Given the description of an element on the screen output the (x, y) to click on. 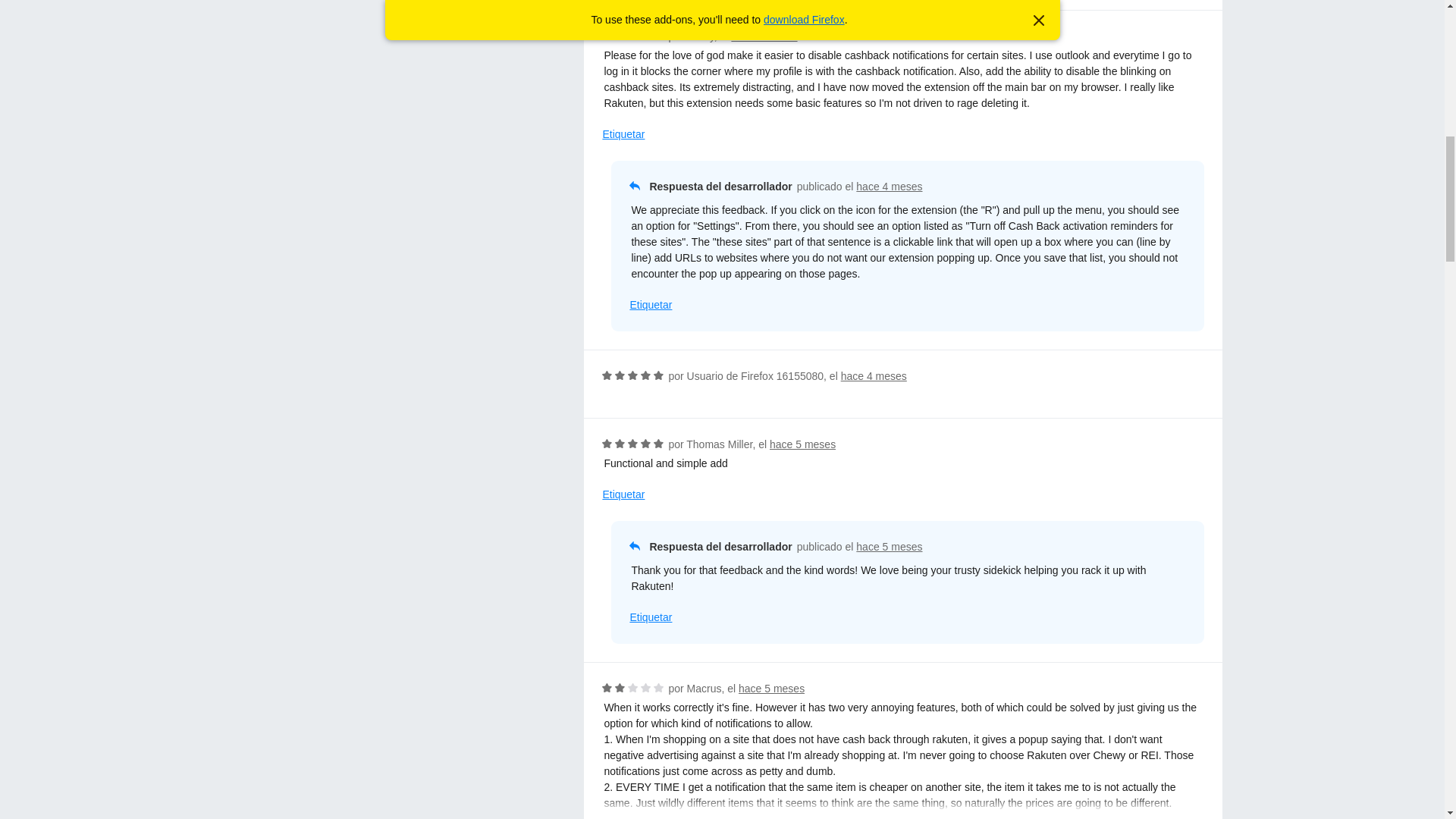
Etiquetar (623, 494)
Etiquetar (649, 304)
hace 5 meses (888, 546)
hace 4 meses (888, 186)
hace 4 meses (874, 376)
Etiquetar (623, 134)
Etiquetar (649, 617)
hace 5 meses (802, 444)
hace 5 meses (771, 688)
hace 4 meses (763, 36)
